Given the description of an element on the screen output the (x, y) to click on. 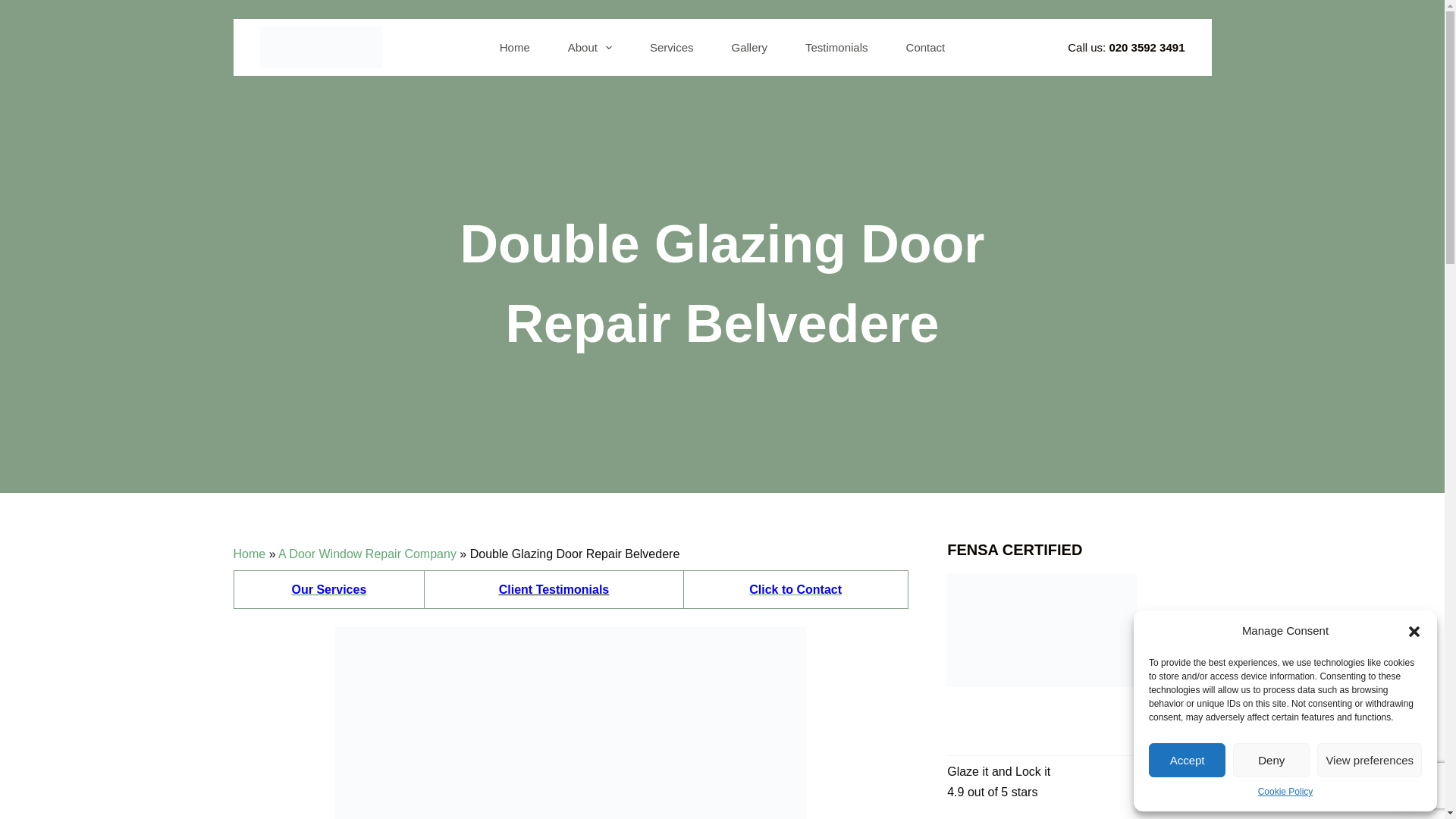
Double Glazed Door Repairs Belvedere (570, 723)
Double Glazing Door Repair Belvedere (722, 283)
Double Glazing Door Repair (570, 723)
Home (249, 553)
repair (554, 589)
upvc (795, 589)
windows (329, 589)
About (589, 47)
Home (249, 553)
Deny (1270, 759)
